Given the description of an element on the screen output the (x, y) to click on. 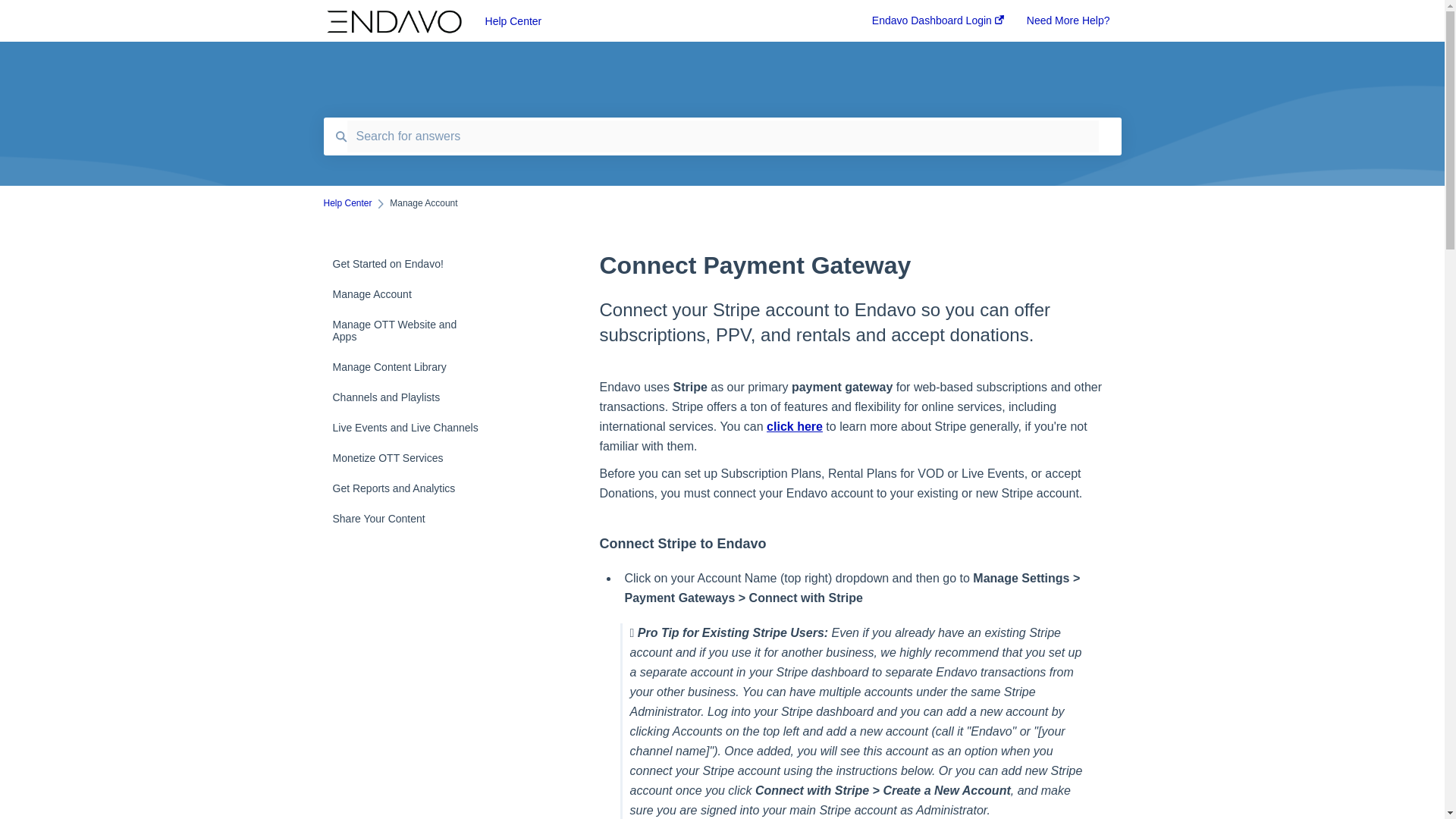
Endavo Dashboard Login (938, 25)
Get Started on Endavo! (414, 263)
Manage OTT Website and Apps (414, 330)
Manage Content Library (414, 367)
Need More Help? (1067, 25)
Monetize OTT Services (414, 458)
Channels and Playlists (414, 397)
click here (794, 426)
Share Your Content (414, 518)
Manage Account (414, 294)
